Given the description of an element on the screen output the (x, y) to click on. 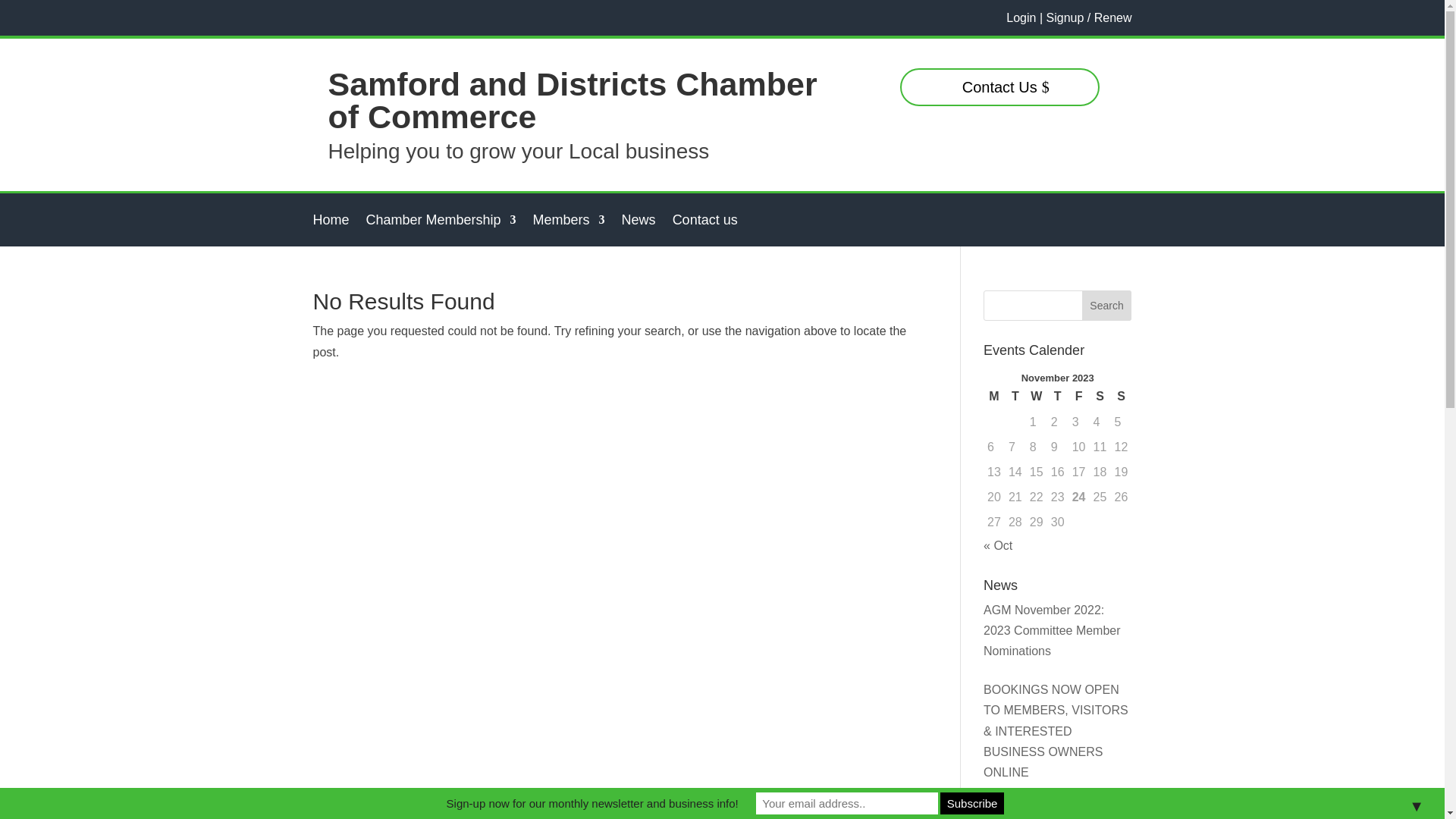
Search Element type: text (1107, 305)
Contact Us Element type: text (999, 87)
News Element type: text (638, 222)
Login Element type: text (1020, 17)
Chamber Membership Element type: text (441, 222)
Home Element type: text (330, 222)
Signup / Renew Element type: text (1089, 17)
Members Element type: text (569, 222)
Contact us Element type: text (704, 222)
AGM November 2022: 2023 Committee Member Nominations Element type: text (1051, 630)
Subscribe Element type: text (972, 803)
